Given the description of an element on the screen output the (x, y) to click on. 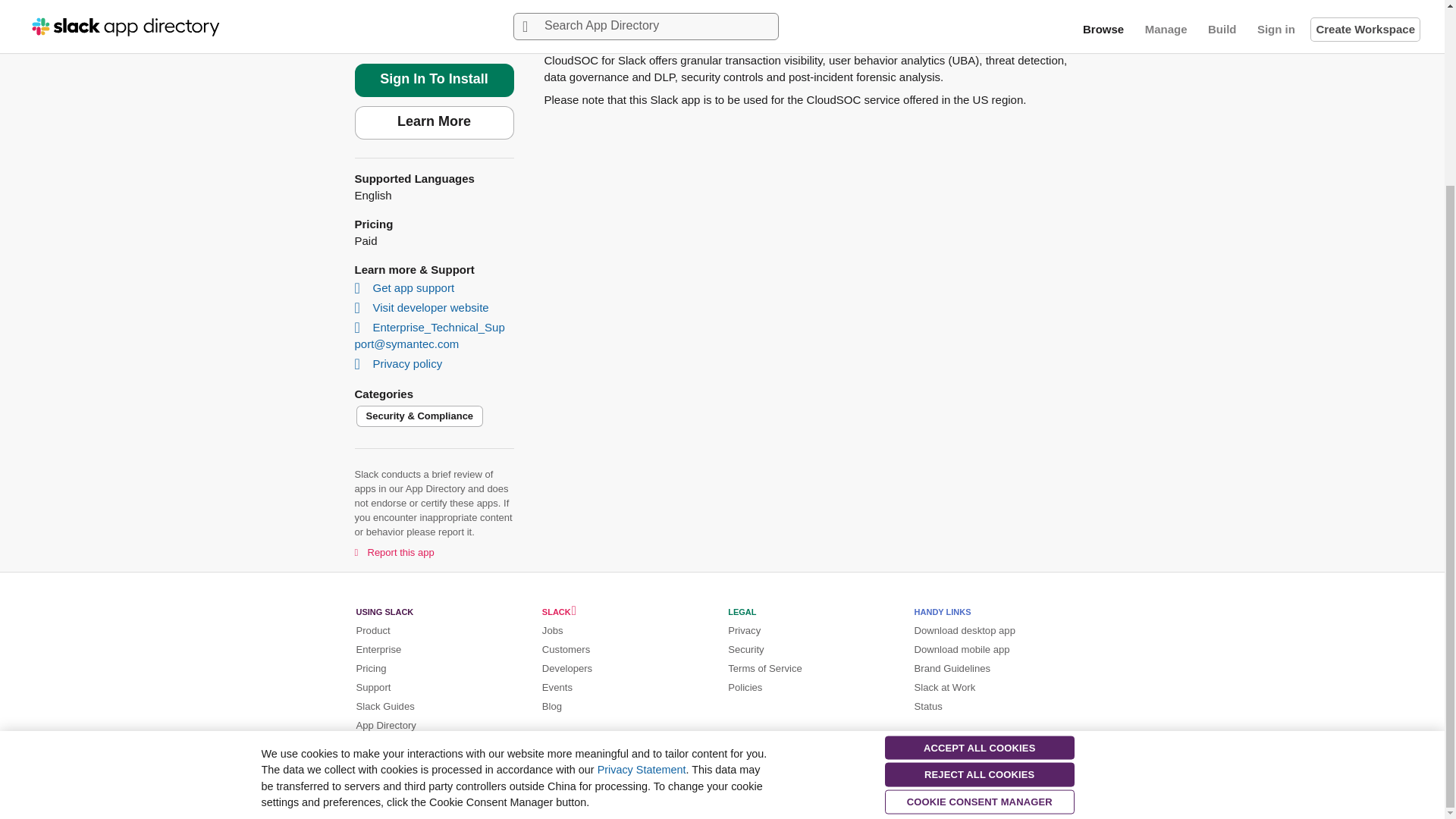
Get app support (406, 287)
Learn More (434, 122)
Report this app (394, 550)
Privacy policy (400, 363)
Visit developer website (423, 307)
Sign In To Install (434, 80)
